Given the description of an element on the screen output the (x, y) to click on. 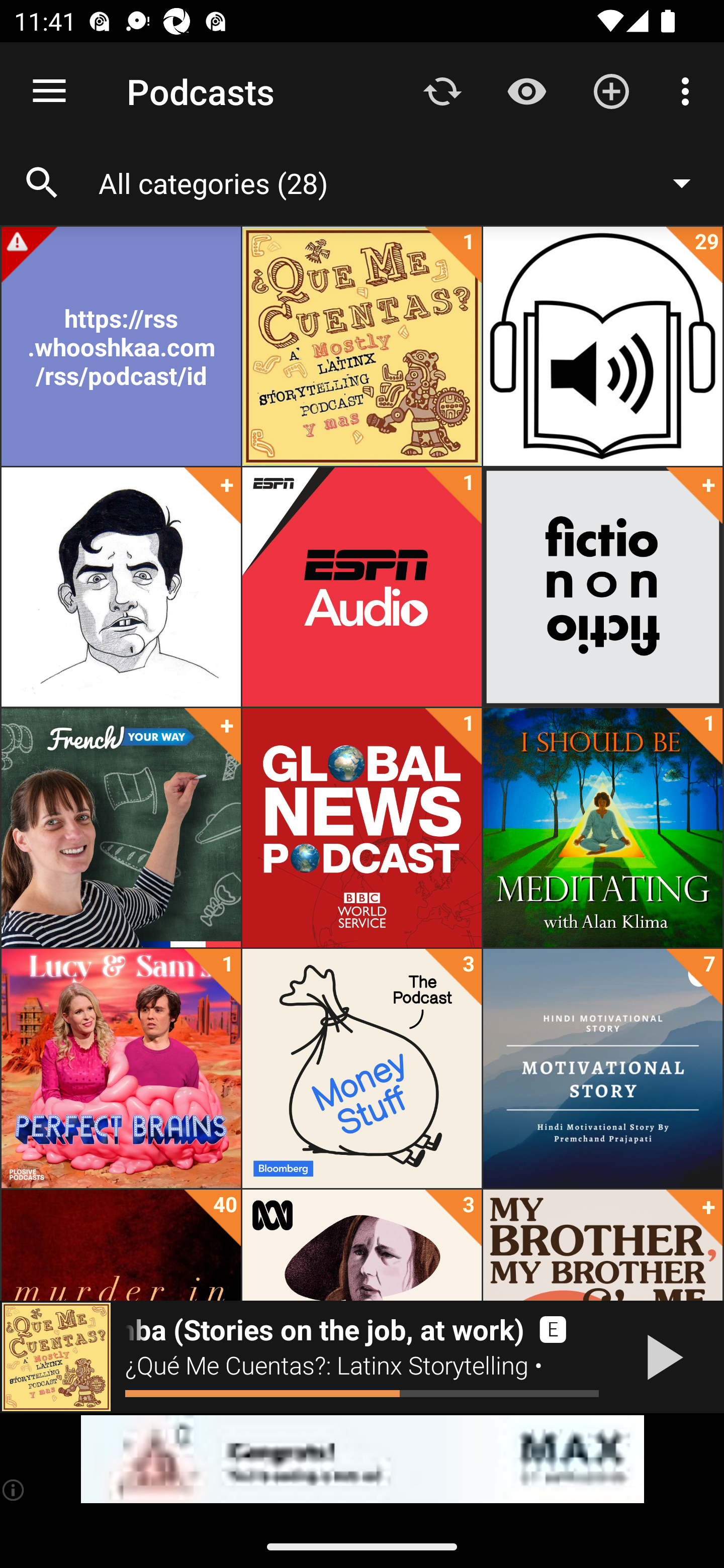
Open navigation sidebar (49, 91)
Update (442, 90)
Show / Hide played content (526, 90)
Add new Podcast (611, 90)
More options (688, 90)
Search (42, 183)
All categories (28) (404, 182)
https://rss.whooshkaa.com/rss/podcast/id/5884 (121, 346)
¿Qué Me Cuentas?: Latinx Storytelling 1 (361, 346)
Audiobooks 29 (602, 346)
Cooking Issues with Dave Arnold + (121, 587)
ESPN Audio 1 (361, 587)
fiction/non/fiction + (602, 587)
Global News Podcast 1 (361, 827)
Lucy & Sam's Perfect Brains 1 (121, 1068)
Money Stuff: The Podcast 3 (361, 1068)
Play / Pause (660, 1356)
app-monetization (362, 1459)
(i) (14, 1489)
